Given the description of an element on the screen output the (x, y) to click on. 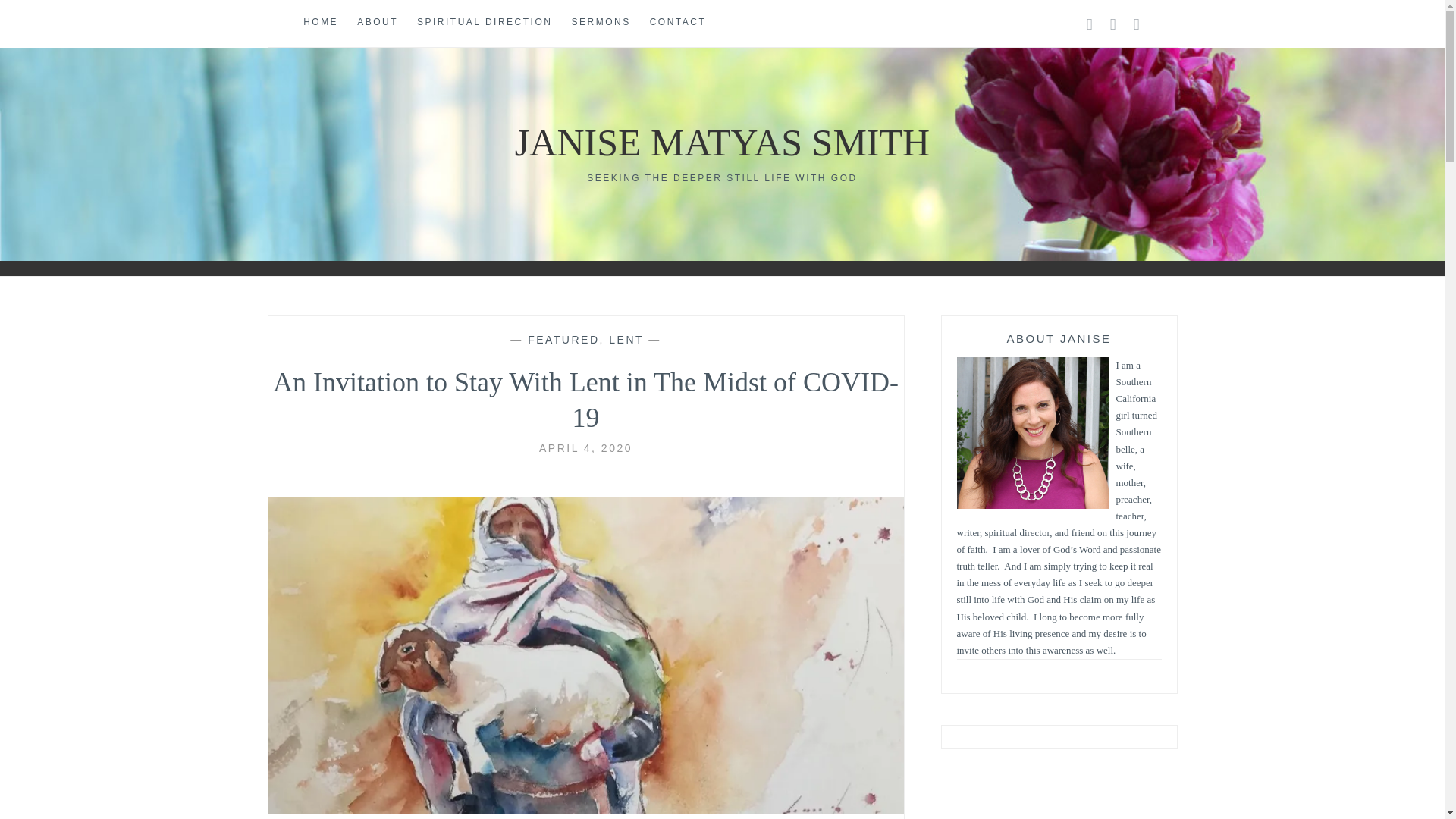
FEATURED (562, 339)
HOME (319, 22)
JANISE MATYAS SMITH (722, 142)
SPIRITUAL DIRECTION (483, 22)
ABOUT (376, 22)
LENT (625, 339)
CONTACT (677, 22)
SERMONS (600, 22)
